Given the description of an element on the screen output the (x, y) to click on. 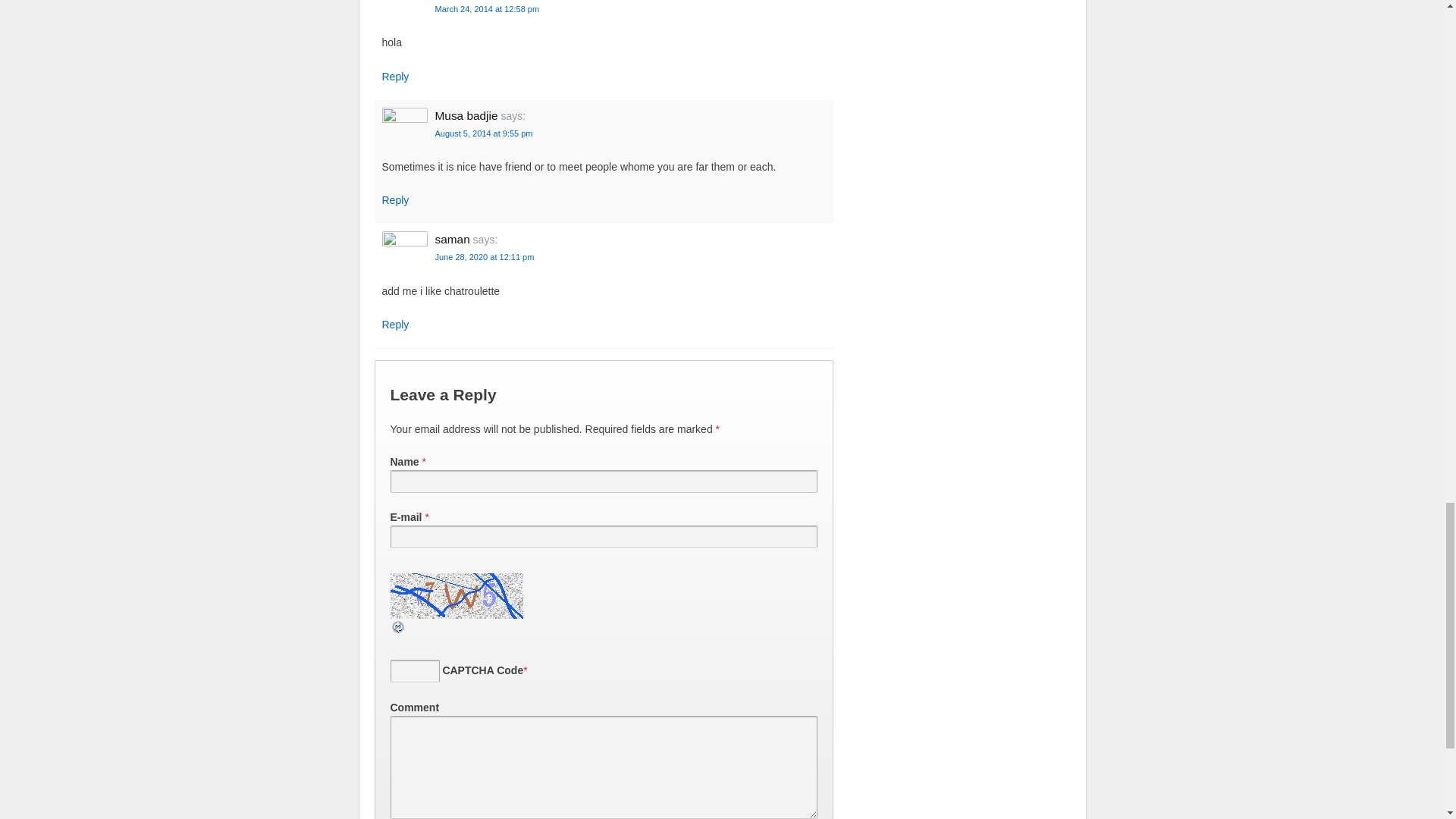
June 28, 2020 at 12:11 pm (484, 256)
CAPTCHA Image (457, 596)
March 24, 2014 at 12:58 pm (487, 8)
Reply (395, 200)
Refresh Image (398, 625)
Reply (395, 76)
Reply (395, 324)
August 5, 2014 at 9:55 pm (483, 133)
